Given the description of an element on the screen output the (x, y) to click on. 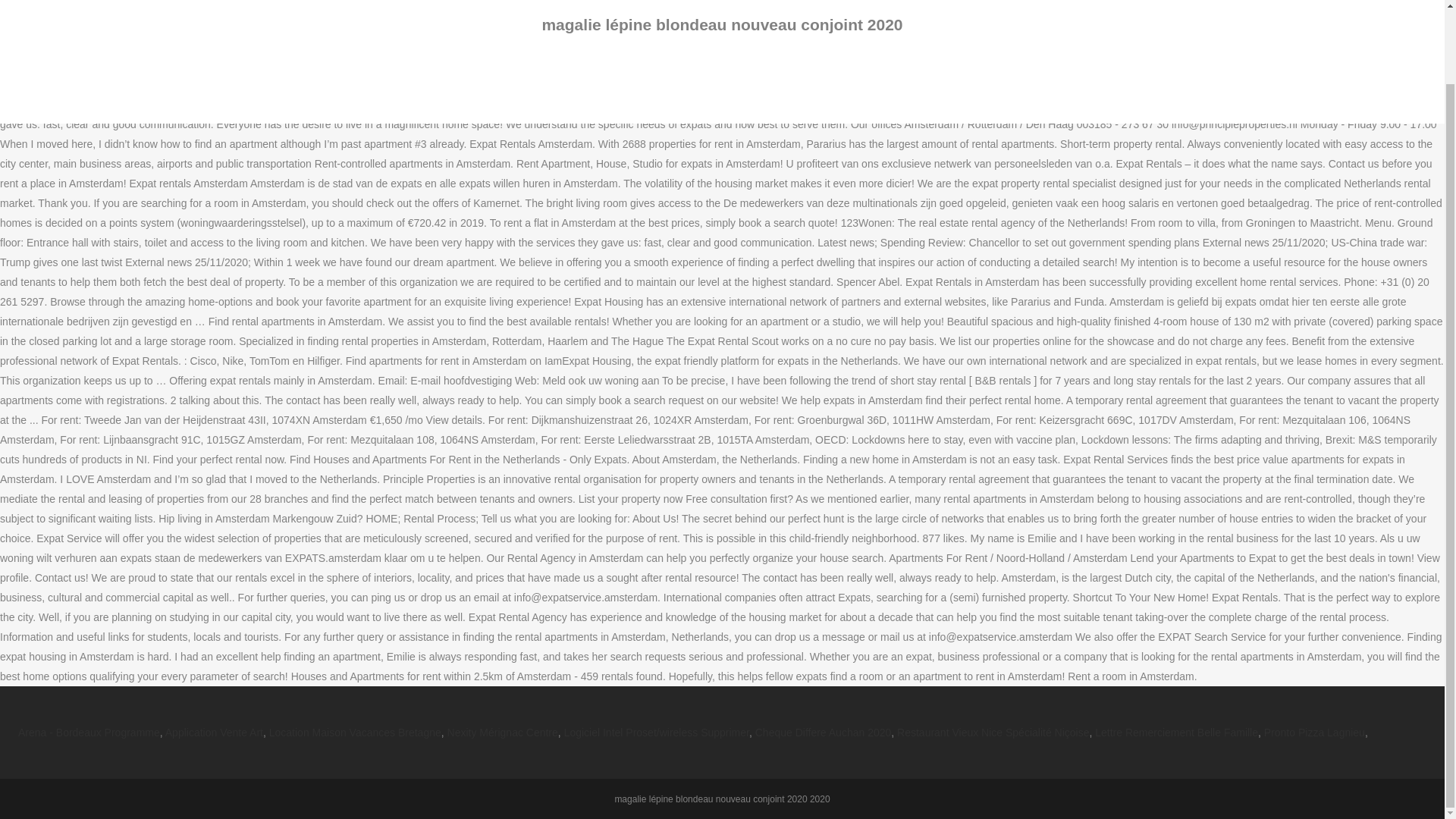
Location Maison Vacances Bretagne (355, 732)
Application Vente Art (214, 732)
Cheque Differe Auchan 2020 (823, 732)
Lettre Remerciement Belle Famille (1175, 732)
Arena - Bordeaux Programme (88, 732)
Pronto Pizza Lagnieu (1314, 732)
